Given the description of an element on the screen output the (x, y) to click on. 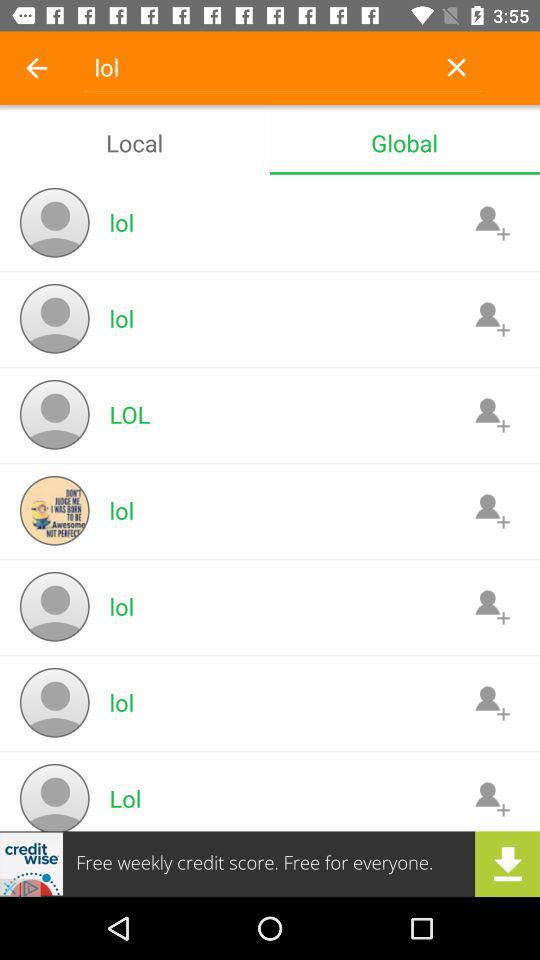
add contact (492, 606)
